Given the description of an element on the screen output the (x, y) to click on. 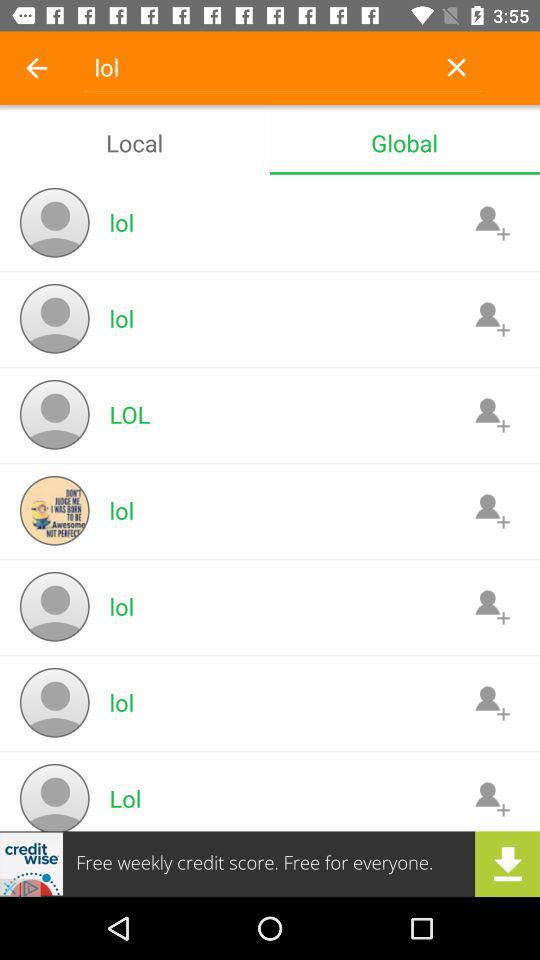
add contact (492, 606)
